Given the description of an element on the screen output the (x, y) to click on. 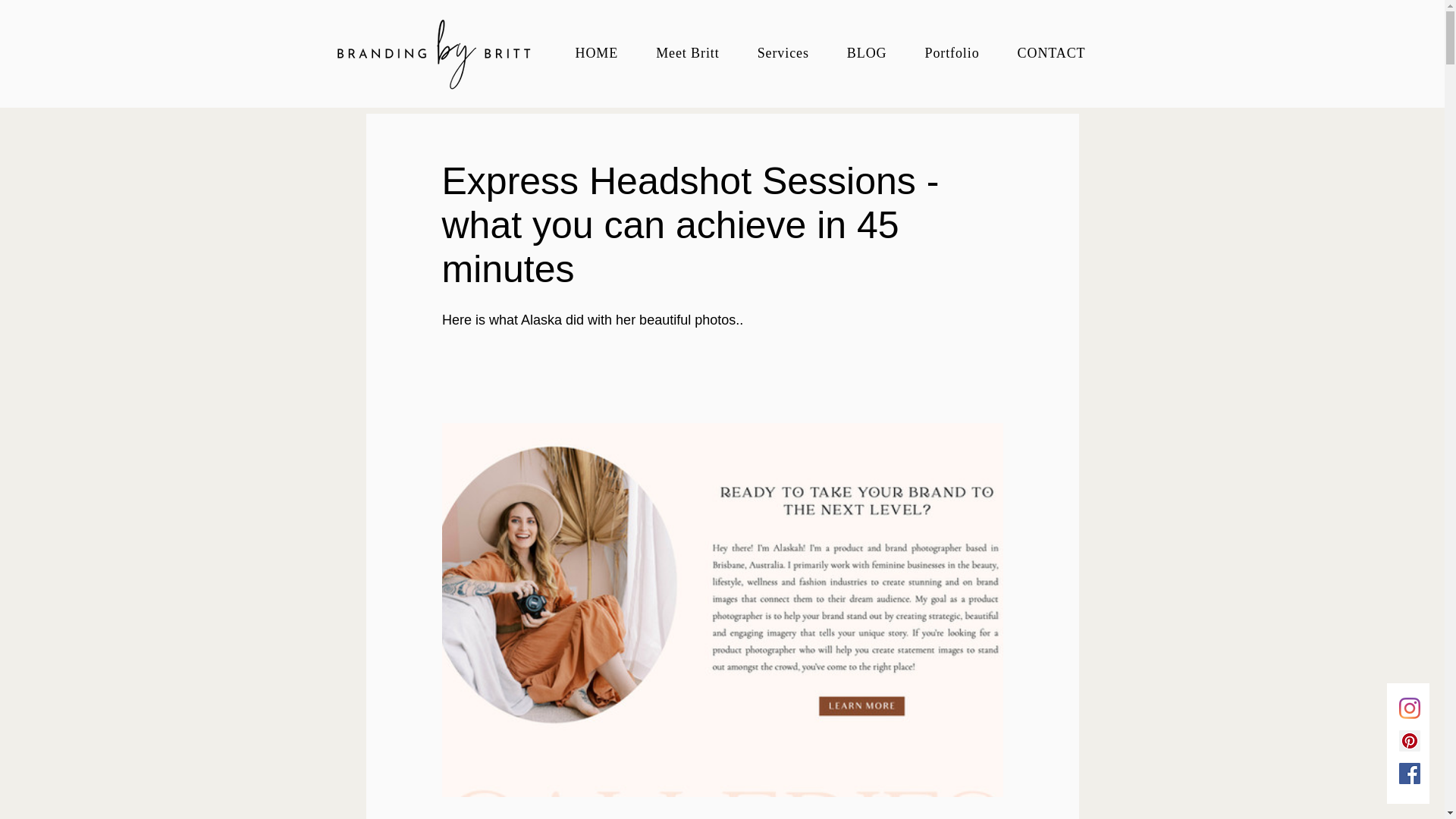
CONTACT (1051, 52)
Services (783, 52)
Meet Britt (687, 52)
BLOG (866, 52)
HOME (596, 52)
